Given the description of an element on the screen output the (x, y) to click on. 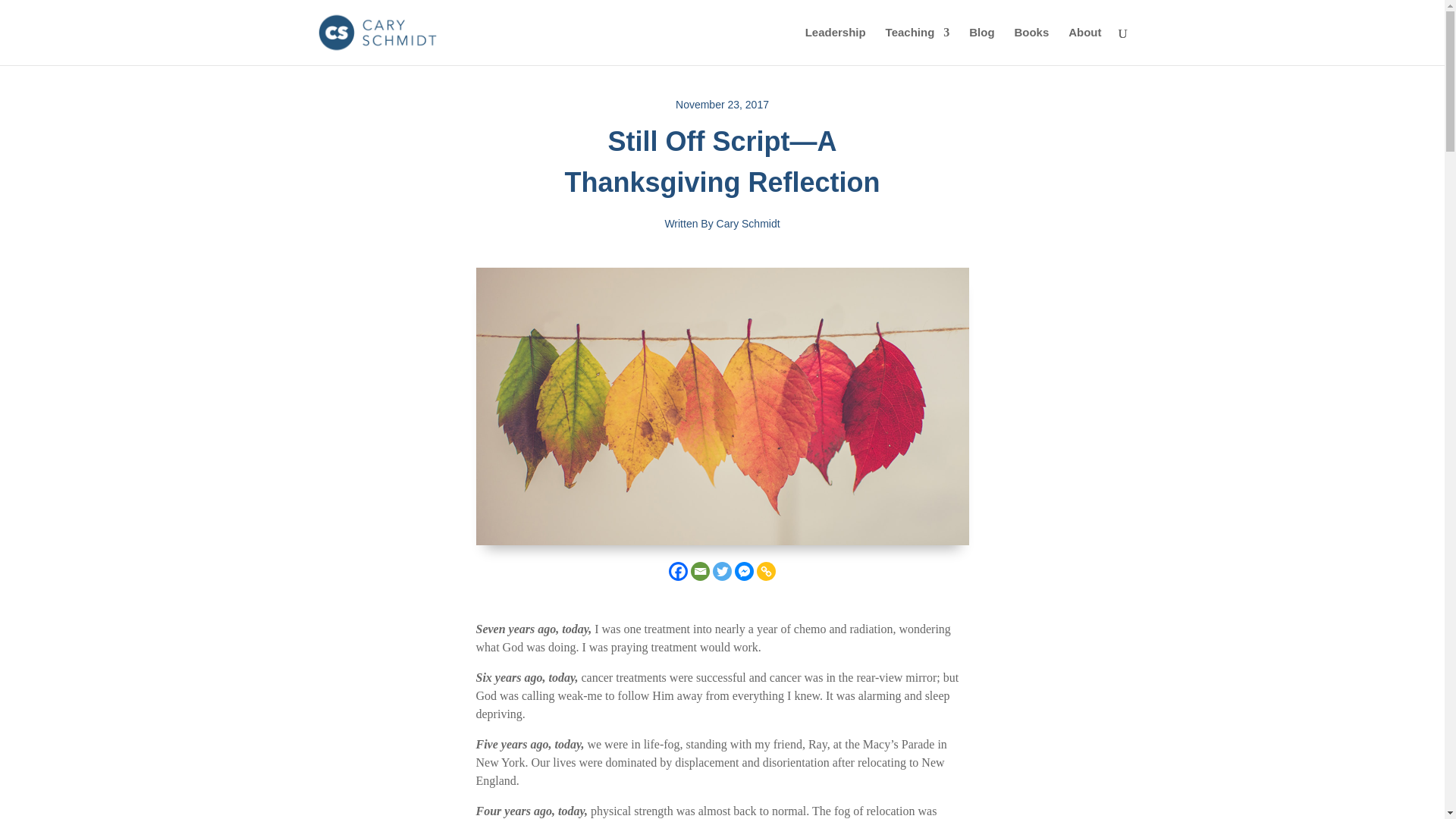
Leadership (835, 46)
Twitter (722, 570)
Facebook (677, 570)
Teaching (917, 46)
Books (1030, 46)
Email (700, 570)
Copy Link (766, 570)
